Given the description of an element on the screen output the (x, y) to click on. 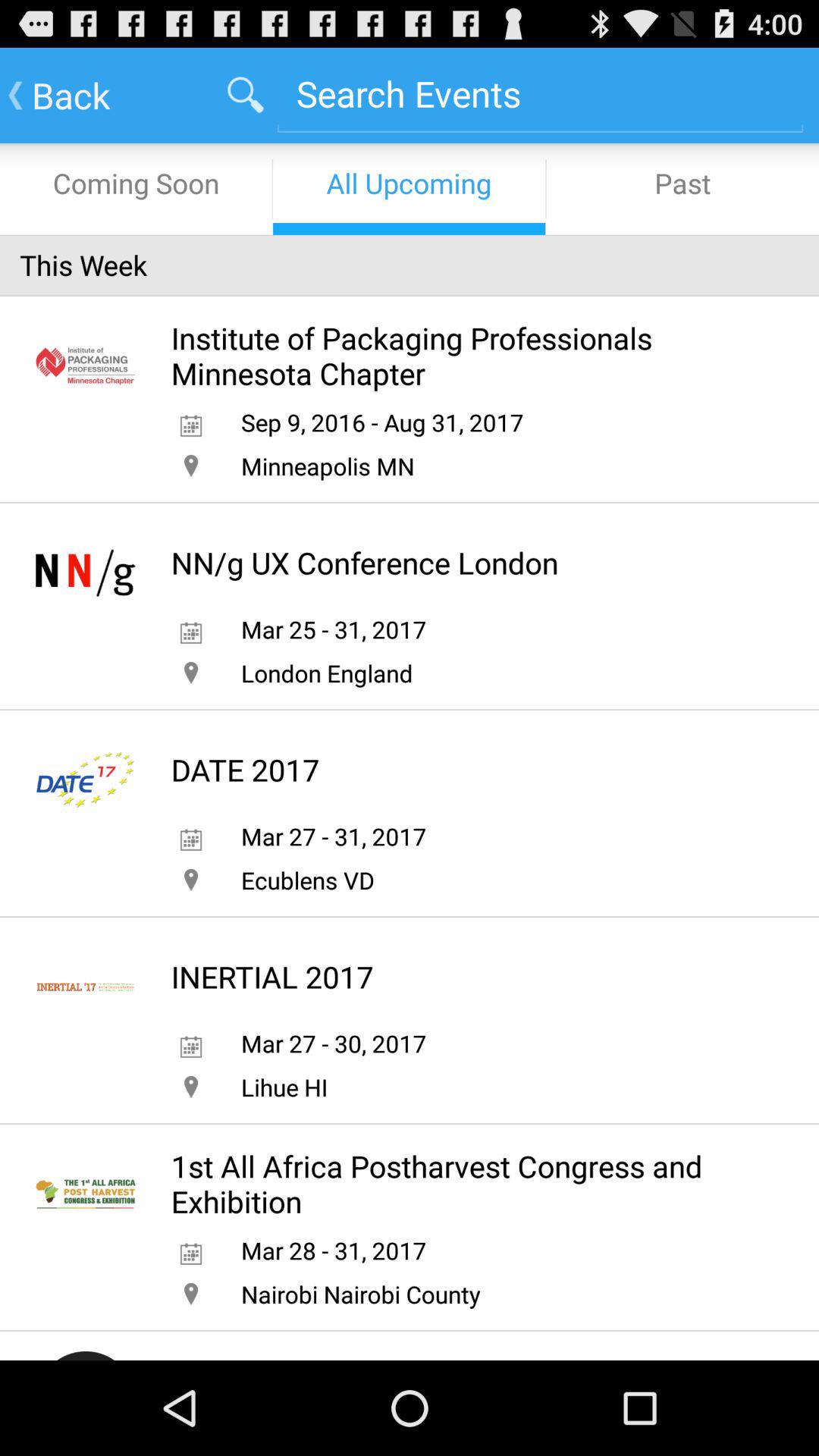
click the item above date 2017 app (326, 672)
